Given the description of an element on the screen output the (x, y) to click on. 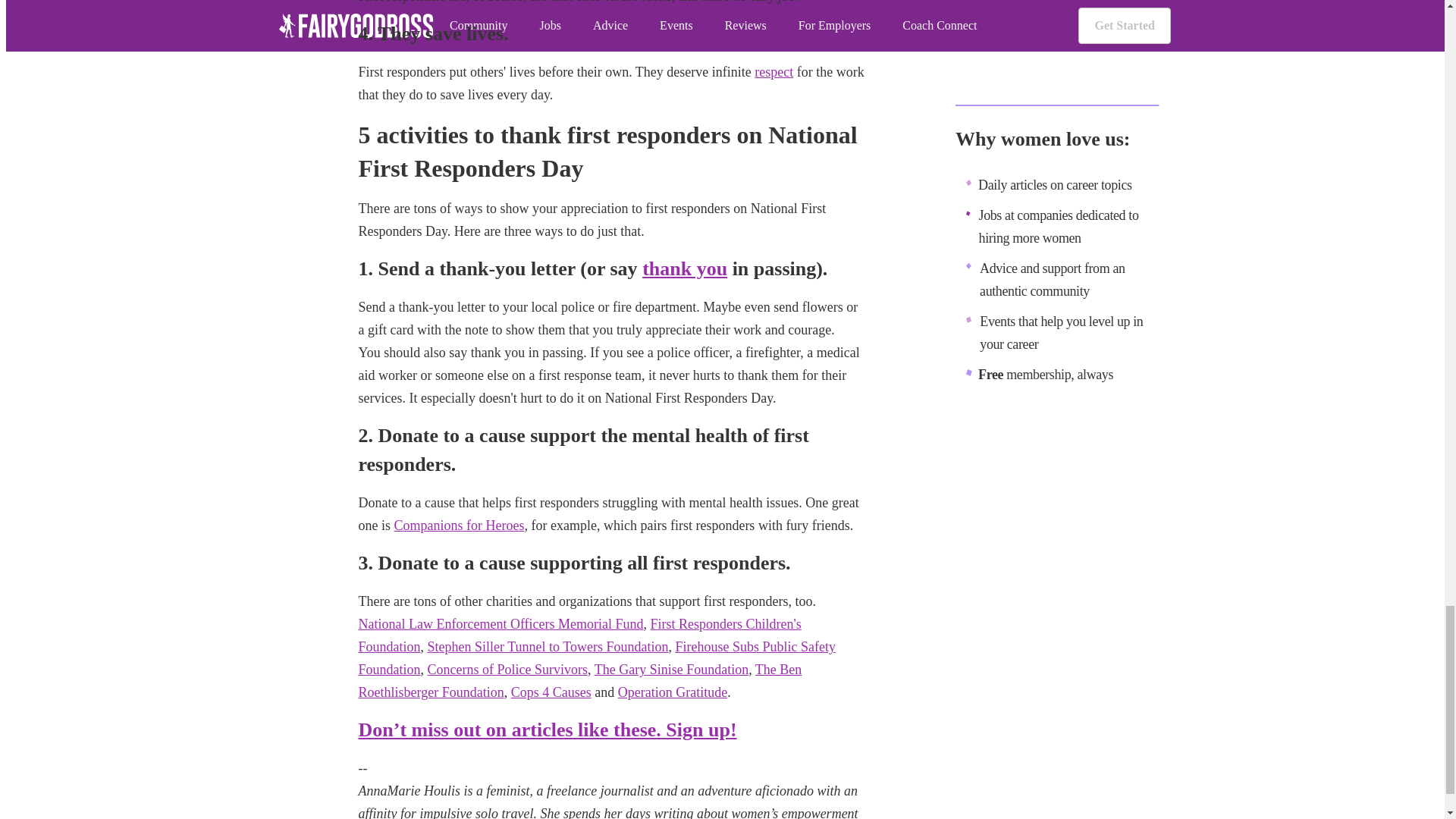
First Responders Children's Foundation (579, 635)
National Law Enforcement Officers Memorial Fund (500, 623)
The Gary Sinise Foundation (671, 669)
Operation Gratitude (671, 692)
Stephen Siller Tunnel to Towers Foundation (548, 646)
Firehouse Subs Public Safety Foundation (596, 658)
thank you (684, 268)
Companions for Heroes (459, 525)
Cops 4 Causes (551, 692)
respect (773, 71)
